Given the description of an element on the screen output the (x, y) to click on. 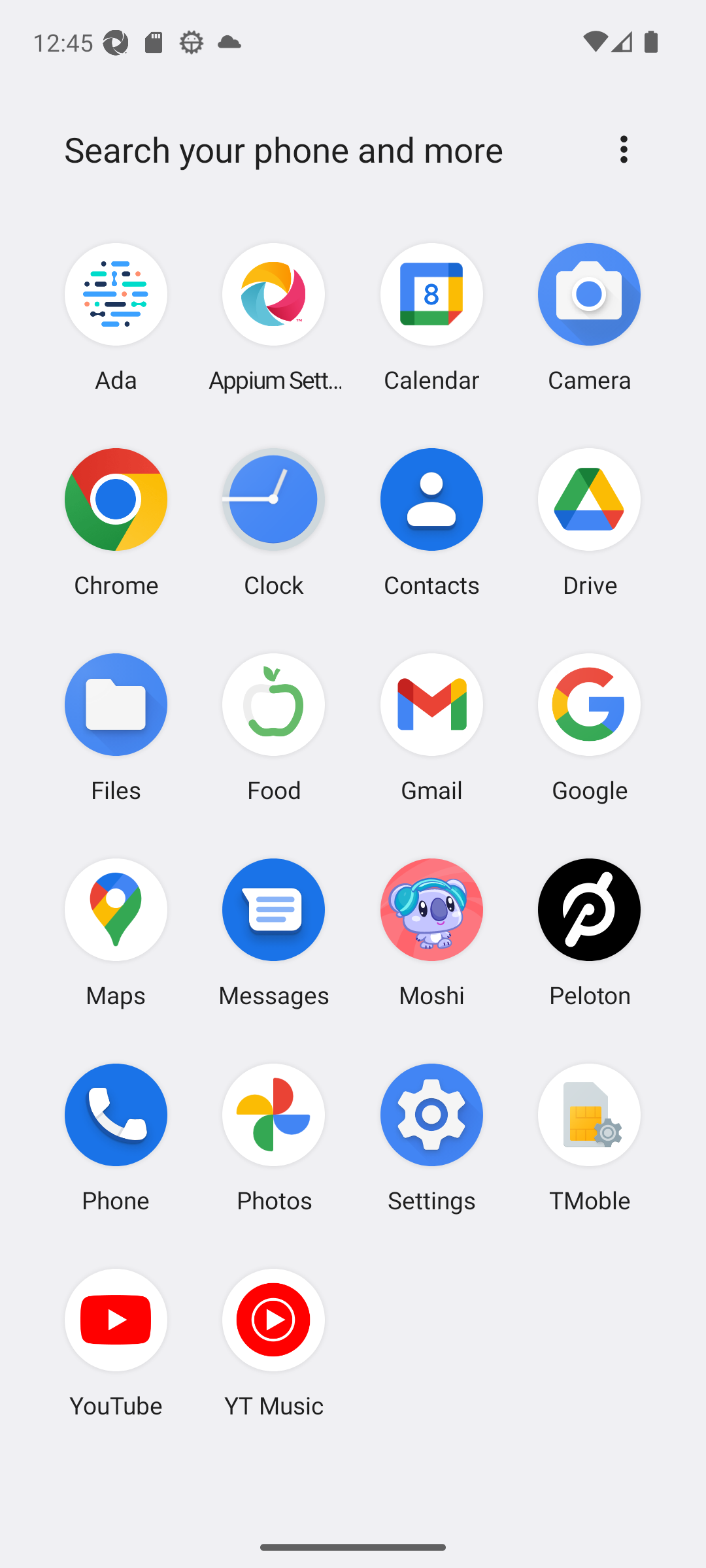
Search your phone and more (321, 149)
Preferences (623, 149)
Ada (115, 317)
Appium Settings (273, 317)
Calendar (431, 317)
Camera (589, 317)
Chrome (115, 522)
Clock (273, 522)
Contacts (431, 522)
Drive (589, 522)
Files (115, 726)
Food (273, 726)
Gmail (431, 726)
Google (589, 726)
Maps (115, 931)
Messages (273, 931)
Moshi (431, 931)
Peloton (589, 931)
Phone (115, 1137)
Photos (273, 1137)
Settings (431, 1137)
TMoble (589, 1137)
YouTube (115, 1342)
YT Music (273, 1342)
